Given the description of an element on the screen output the (x, y) to click on. 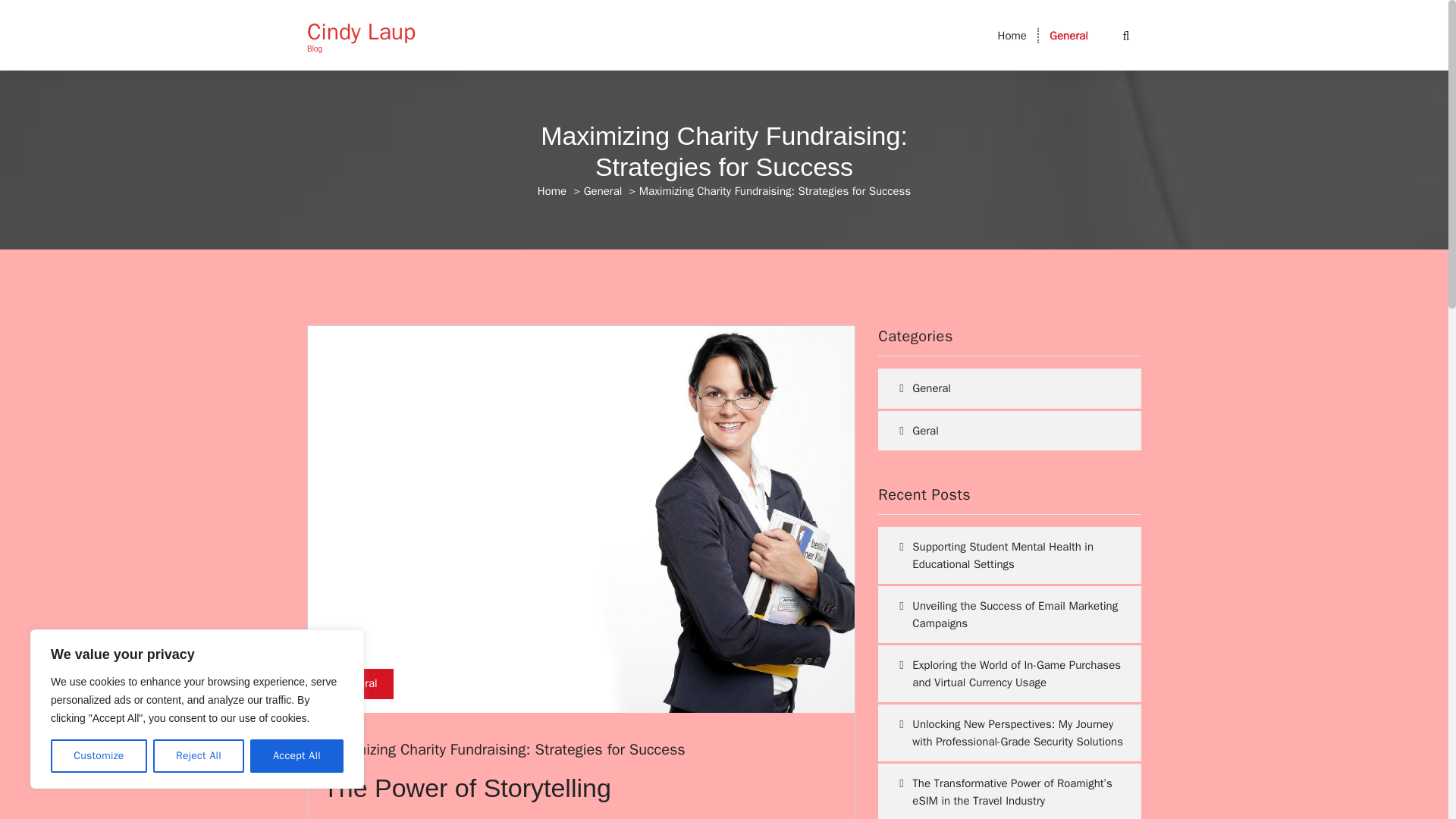
Home (1012, 35)
Home (551, 191)
General (1068, 35)
General (603, 191)
General (358, 684)
Customize (98, 756)
Accept All (296, 756)
Home (1012, 35)
Reject All (198, 756)
General (1068, 35)
Cindy Laup (360, 31)
